Given the description of an element on the screen output the (x, y) to click on. 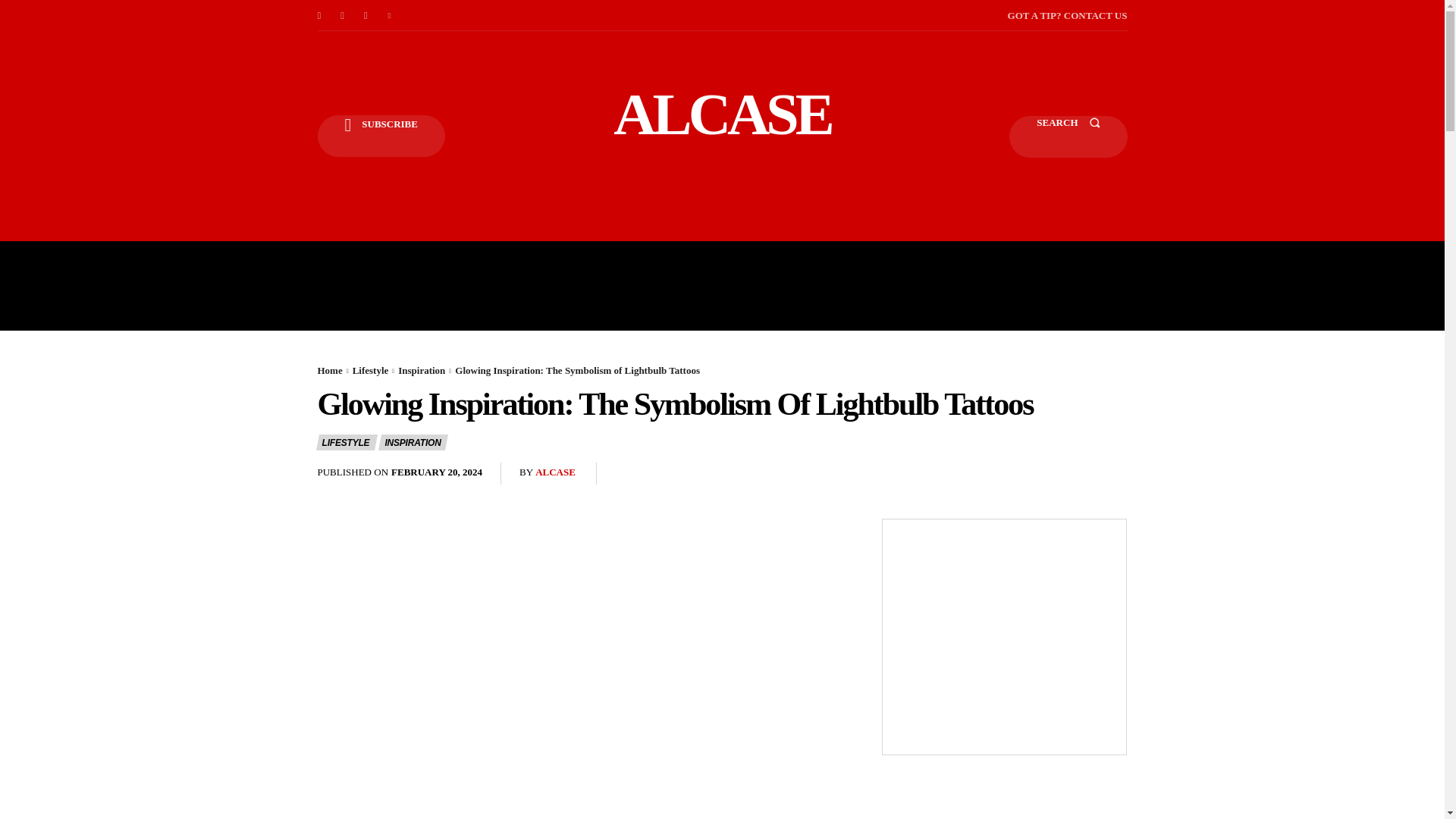
Twitter (389, 15)
SUBSCRIBE (380, 136)
Facebook (318, 15)
SEARCH (1067, 137)
Instagram (342, 15)
ALCASE (722, 113)
GOT A TIP? CONTACT US (1066, 15)
TikTok (366, 15)
